Given the description of an element on the screen output the (x, y) to click on. 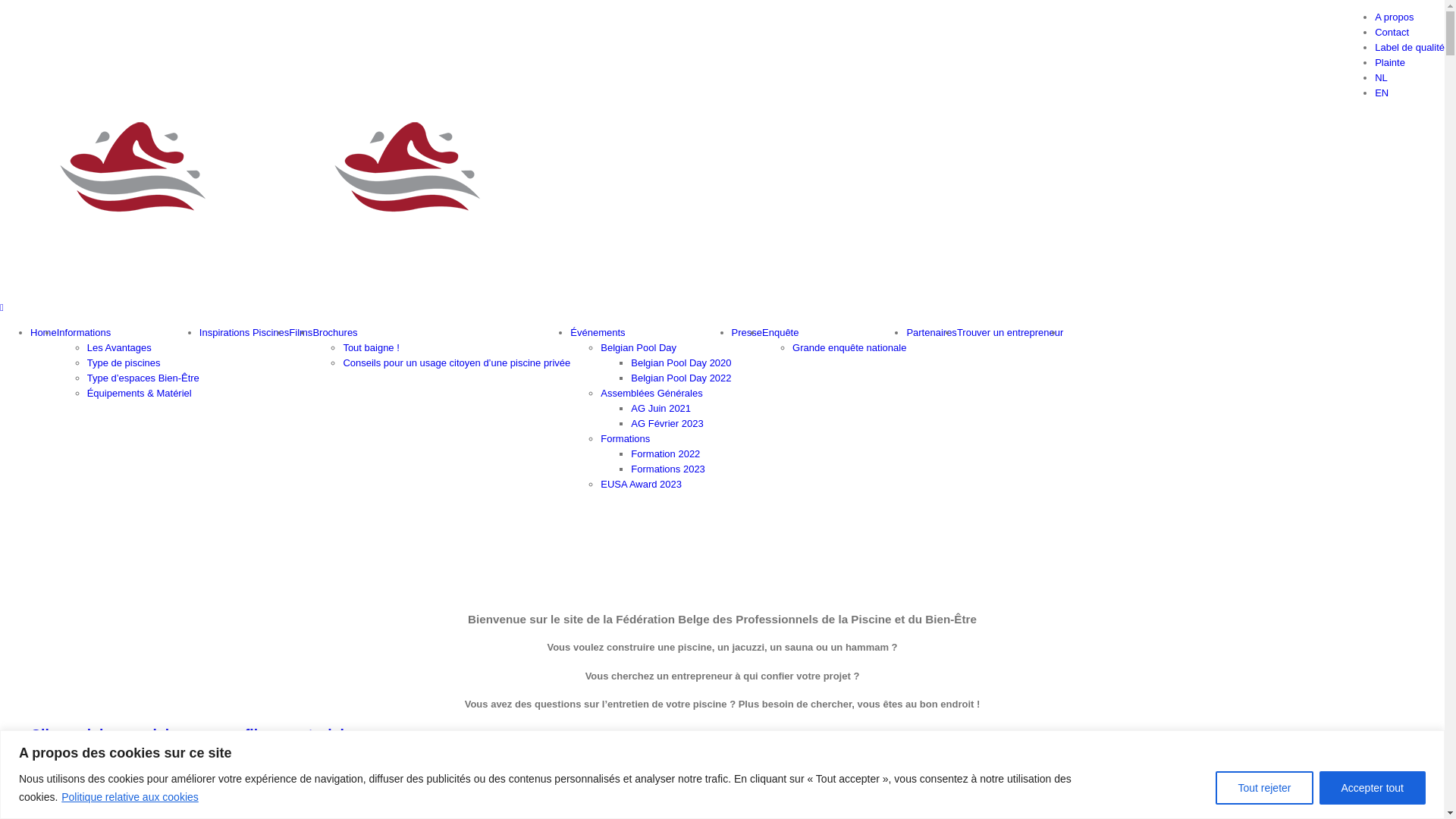
Tout rejeter Element type: text (1263, 786)
NL Element type: text (1380, 77)
Formations Element type: text (624, 438)
EUSA Award 2023 Element type: text (640, 483)
Politique relative aux cookies Element type: text (129, 796)
Belgian Pool Day 2020 Element type: text (680, 362)
Tout baigne ! Element type: text (370, 347)
Cliquez ici pour visionner nos films sectoriels  Element type: text (193, 734)
Type de piscines Element type: text (123, 362)
Presse Element type: text (746, 332)
Contact Element type: text (1391, 31)
Belgian Pool Day 2022 Element type: text (680, 377)
Plainte Element type: text (1389, 62)
Partenaires Element type: text (931, 332)
EN Element type: text (1381, 92)
Trouver un entrepreneur Element type: text (1010, 332)
Brochures Element type: text (334, 332)
Home Element type: text (43, 332)
Accepter tout Element type: text (1372, 786)
Inspirations Piscines Element type: text (244, 332)
A propos Element type: text (1393, 16)
Les Avantages Element type: text (119, 347)
Informations Element type: text (83, 332)
Belgian Pool Day Element type: text (638, 347)
Formations 2023 Element type: text (667, 468)
AG Juin 2021 Element type: text (660, 408)
Films Element type: text (300, 332)
Formation 2022 Element type: text (664, 453)
